Given the description of an element on the screen output the (x, y) to click on. 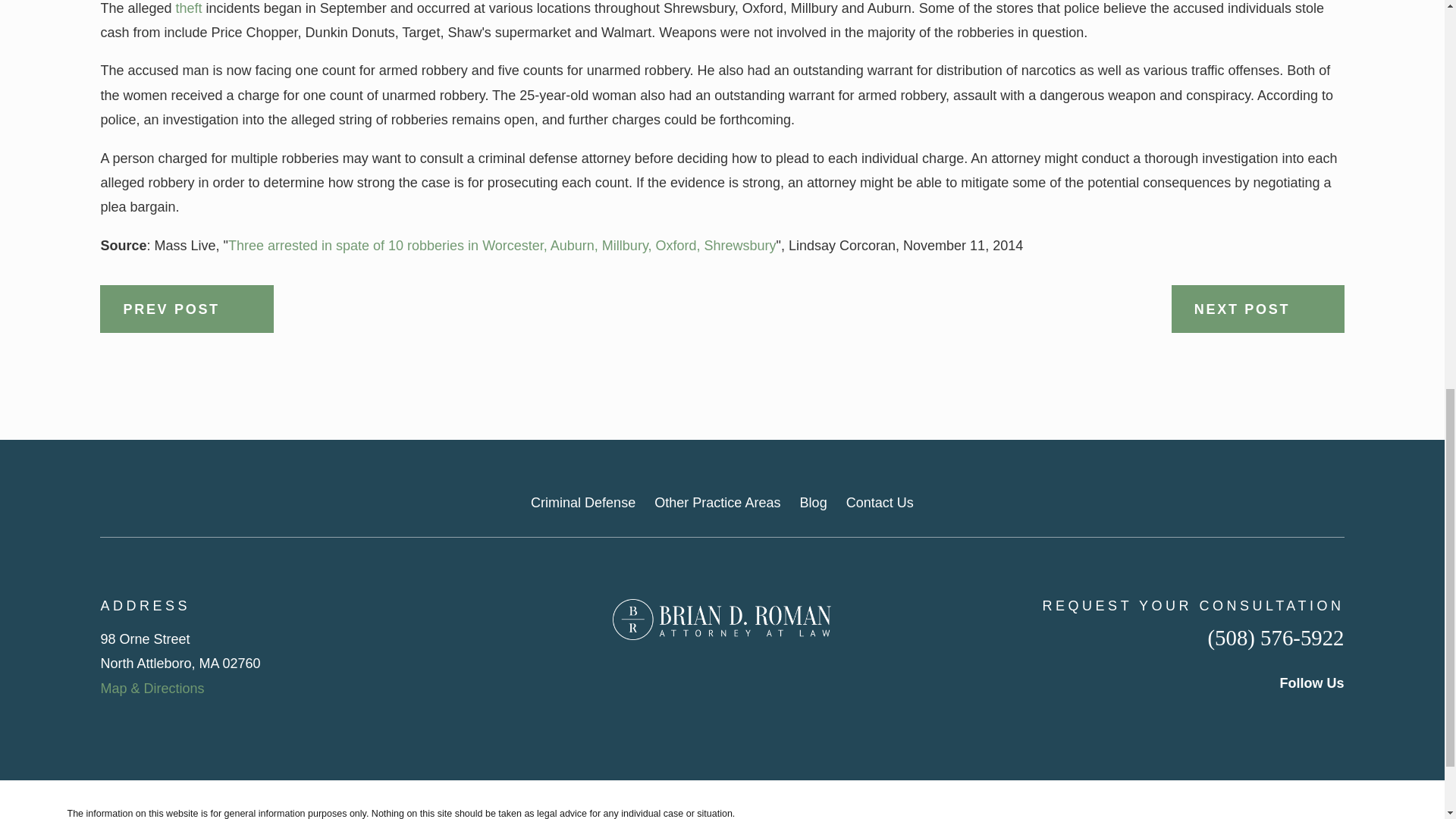
LinkedIn (1285, 716)
Home (721, 618)
Avvo (1333, 716)
Facebook (1236, 716)
